Given the description of an element on the screen output the (x, y) to click on. 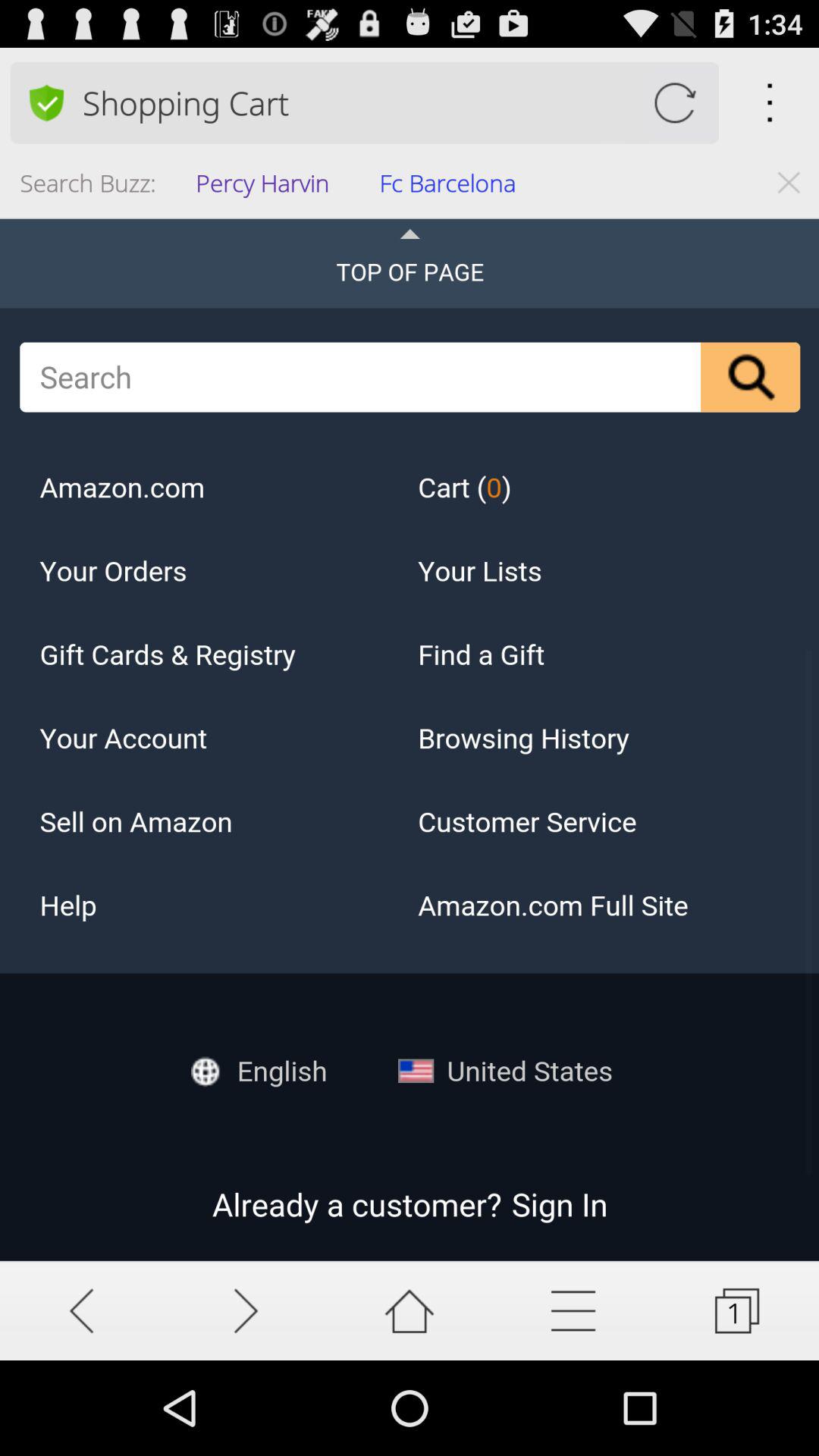
press fc barcelona app (452, 187)
